Given the description of an element on the screen output the (x, y) to click on. 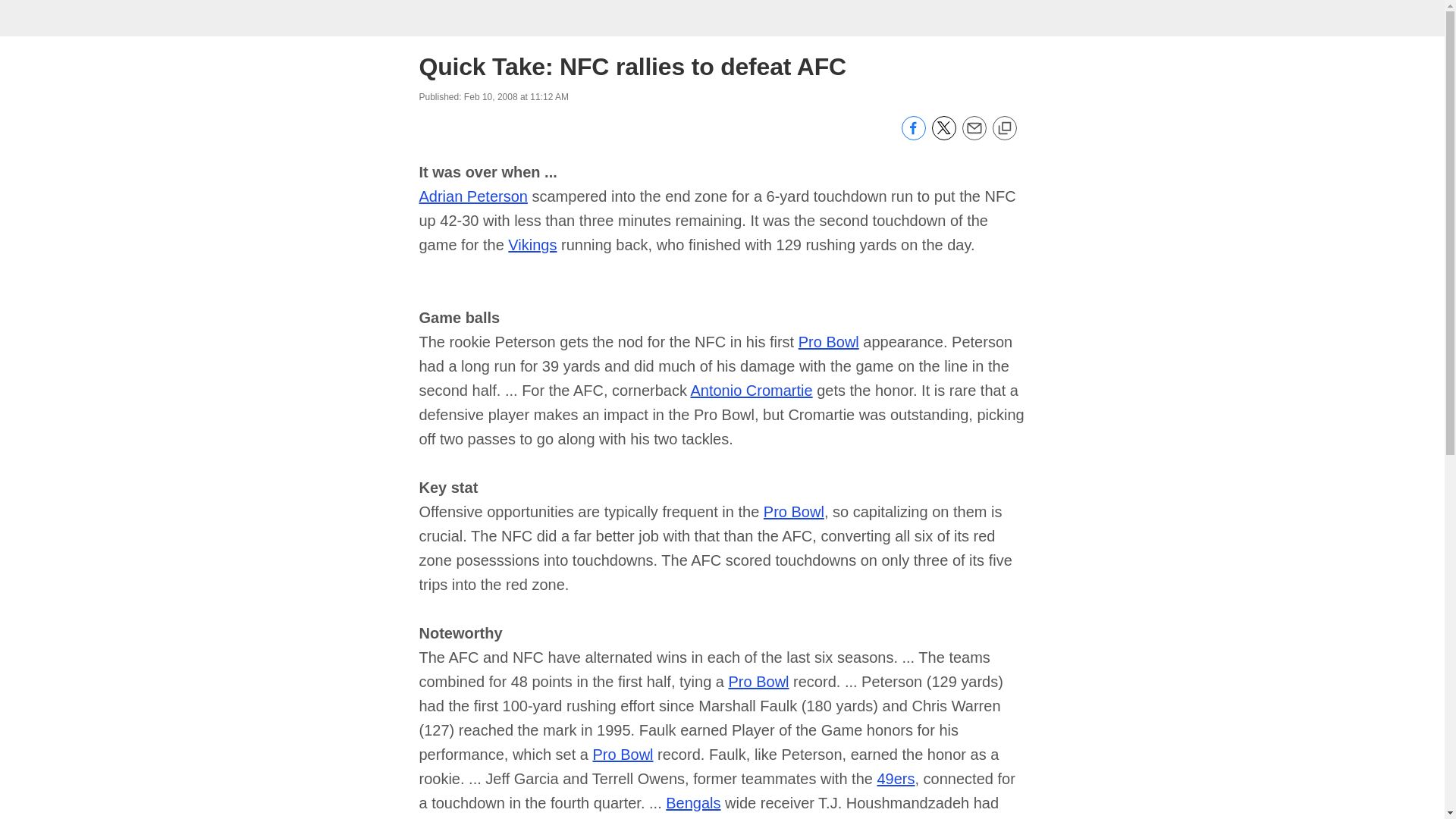
Pro Bowl (793, 511)
Bengals (692, 802)
Share on Twitter (943, 136)
Share on Facebook (912, 136)
Send email (972, 136)
Adrian Peterson (473, 196)
49ers (895, 778)
Pro Bowl (758, 681)
Pro Bowl (828, 341)
Pro Bowl (622, 754)
